Given the description of an element on the screen output the (x, y) to click on. 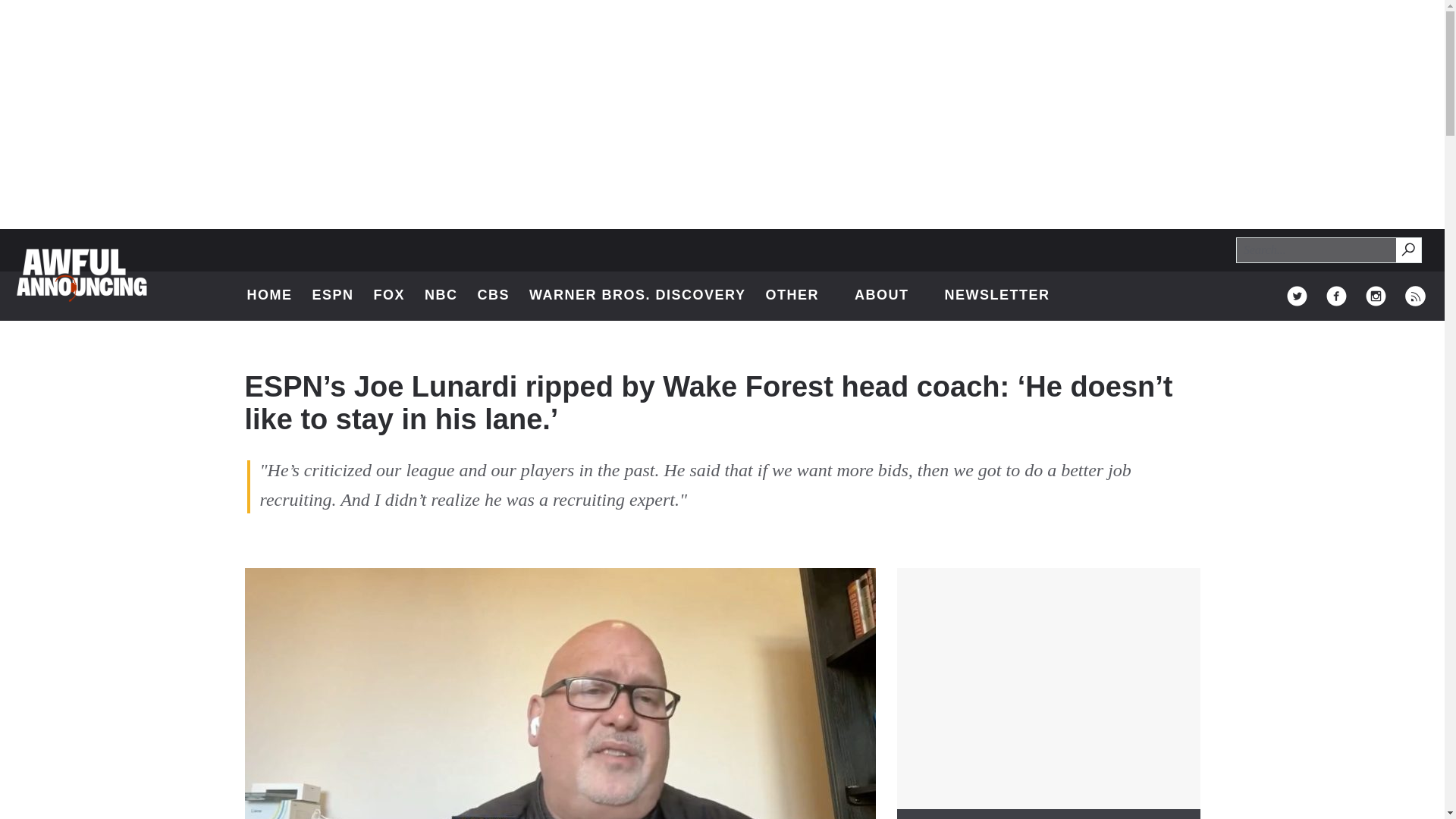
Link to Instagram (1375, 296)
Link to Facebook (1336, 296)
ABOUT (889, 296)
HOME (269, 296)
NEWSLETTER (996, 296)
Link to RSS (1414, 296)
OTHER (799, 296)
NBC (441, 296)
WARNER BROS. DISCOVERY (636, 296)
CBS (493, 296)
SEARCH (1409, 249)
ESPN (1407, 249)
Link to Twitter (332, 296)
FOX (1296, 296)
